Given the description of an element on the screen output the (x, y) to click on. 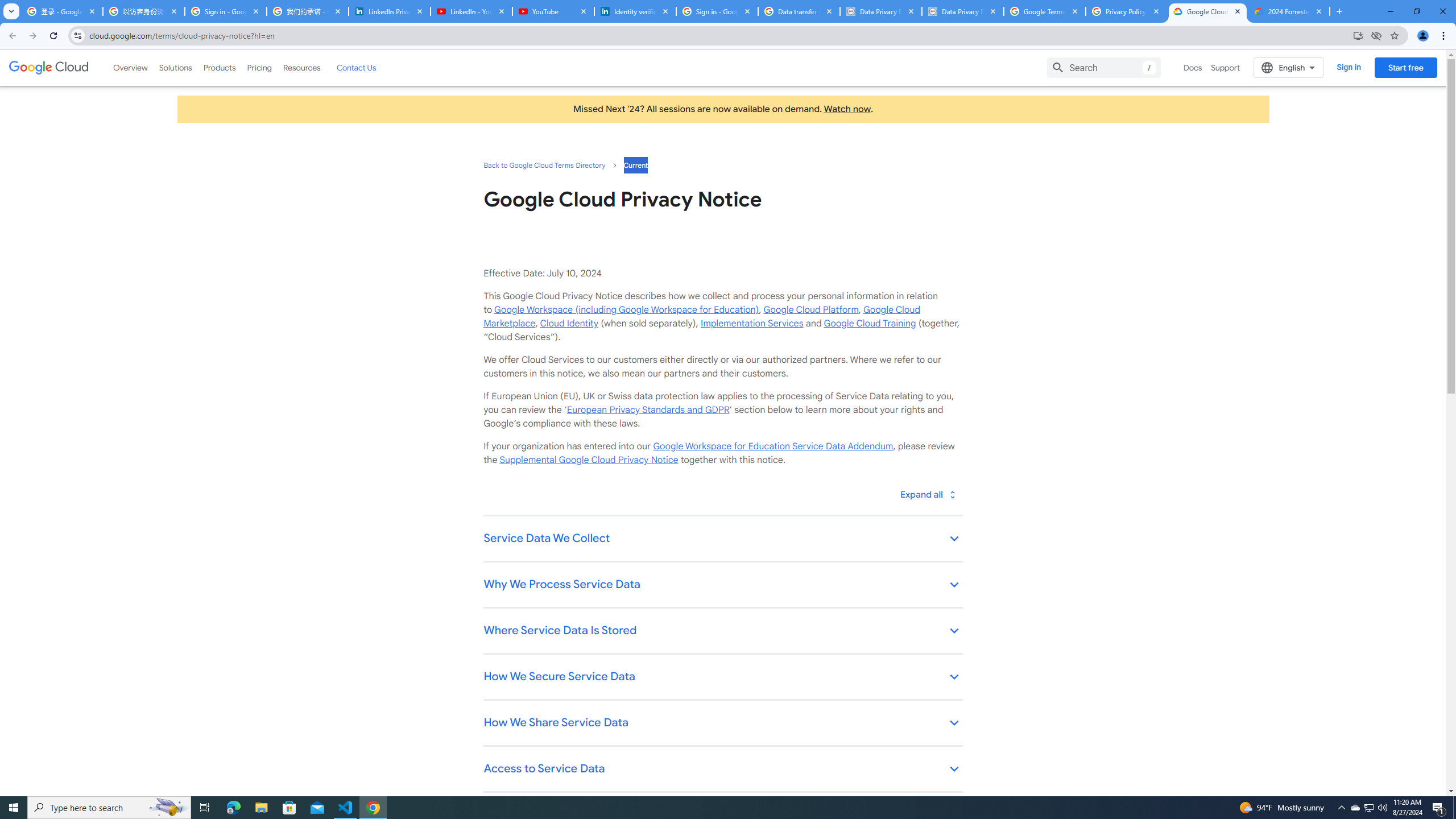
Google Cloud Marketplace (701, 316)
Watch now (847, 108)
Data Privacy Framework (880, 11)
Contact Us (355, 67)
Solutions (175, 67)
Toggle all (927, 493)
LinkedIn Privacy Policy (389, 11)
Cloud Identity (569, 323)
